Given the description of an element on the screen output the (x, y) to click on. 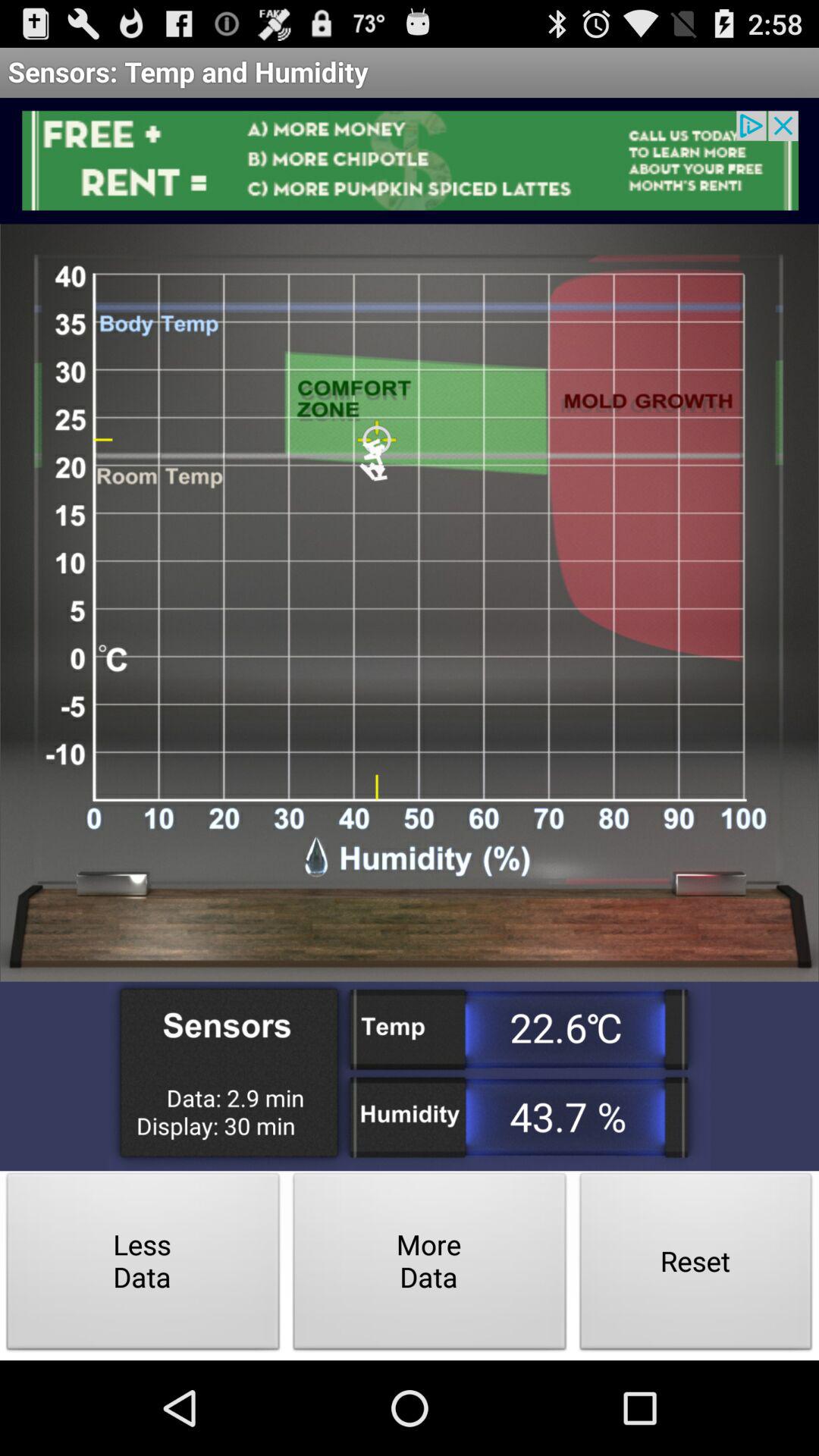
press the icon next to the less
data (429, 1265)
